Given the description of an element on the screen output the (x, y) to click on. 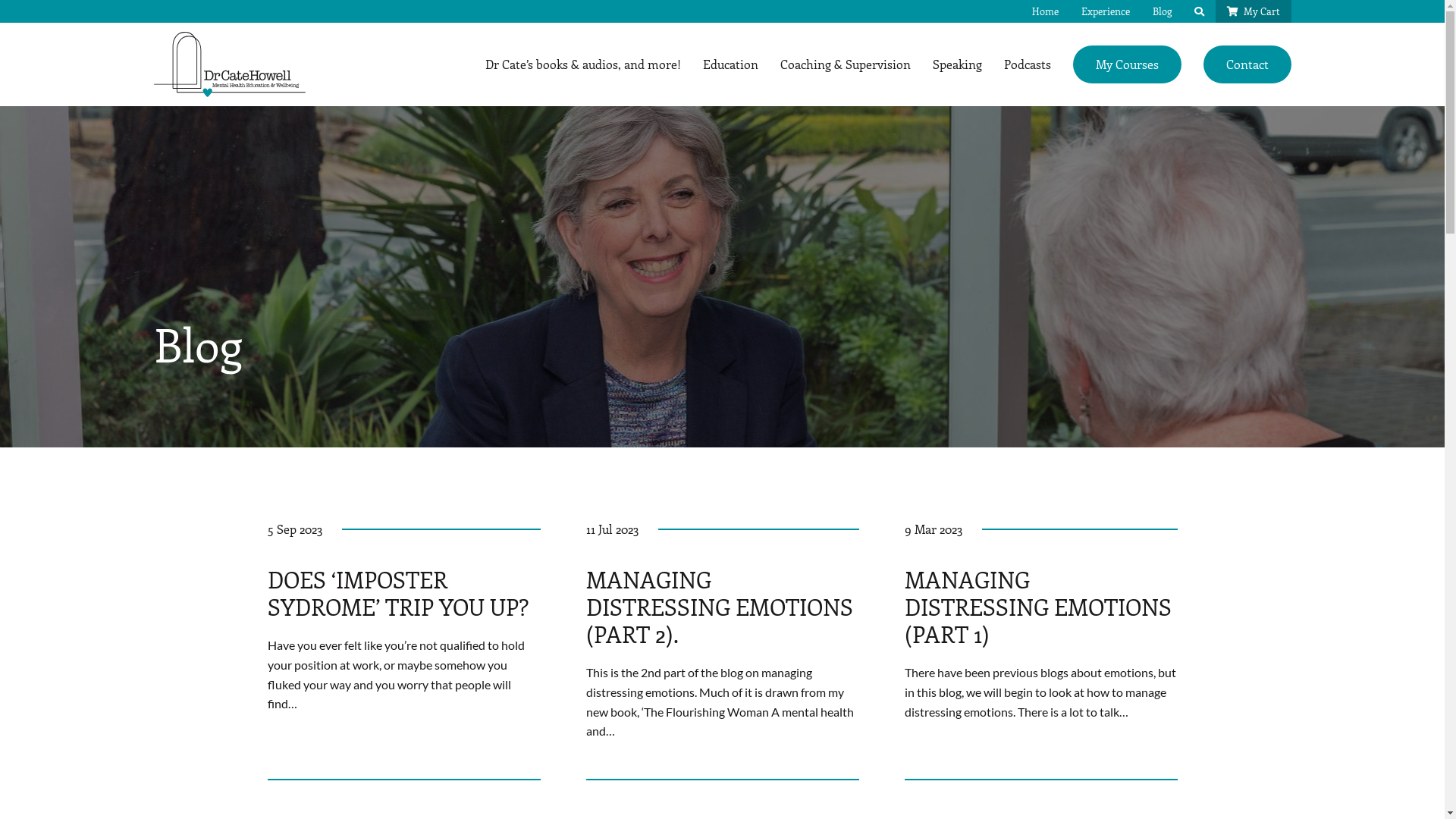
Blog Element type: text (1161, 11)
MANAGING DISTRESSING EMOTIONS (PART 1) Element type: text (1036, 606)
Education Element type: text (729, 63)
My Cart Element type: text (1252, 11)
Contact Element type: text (1246, 63)
My Courses Element type: text (1126, 63)
Experience Element type: text (1104, 11)
Speaking Element type: text (957, 63)
Home Element type: text (1045, 11)
Podcasts Element type: text (1027, 63)
MANAGING DISTRESSING EMOTIONS (PART 2). Element type: text (718, 606)
Coaching & Supervision Element type: text (844, 63)
